Given the description of an element on the screen output the (x, y) to click on. 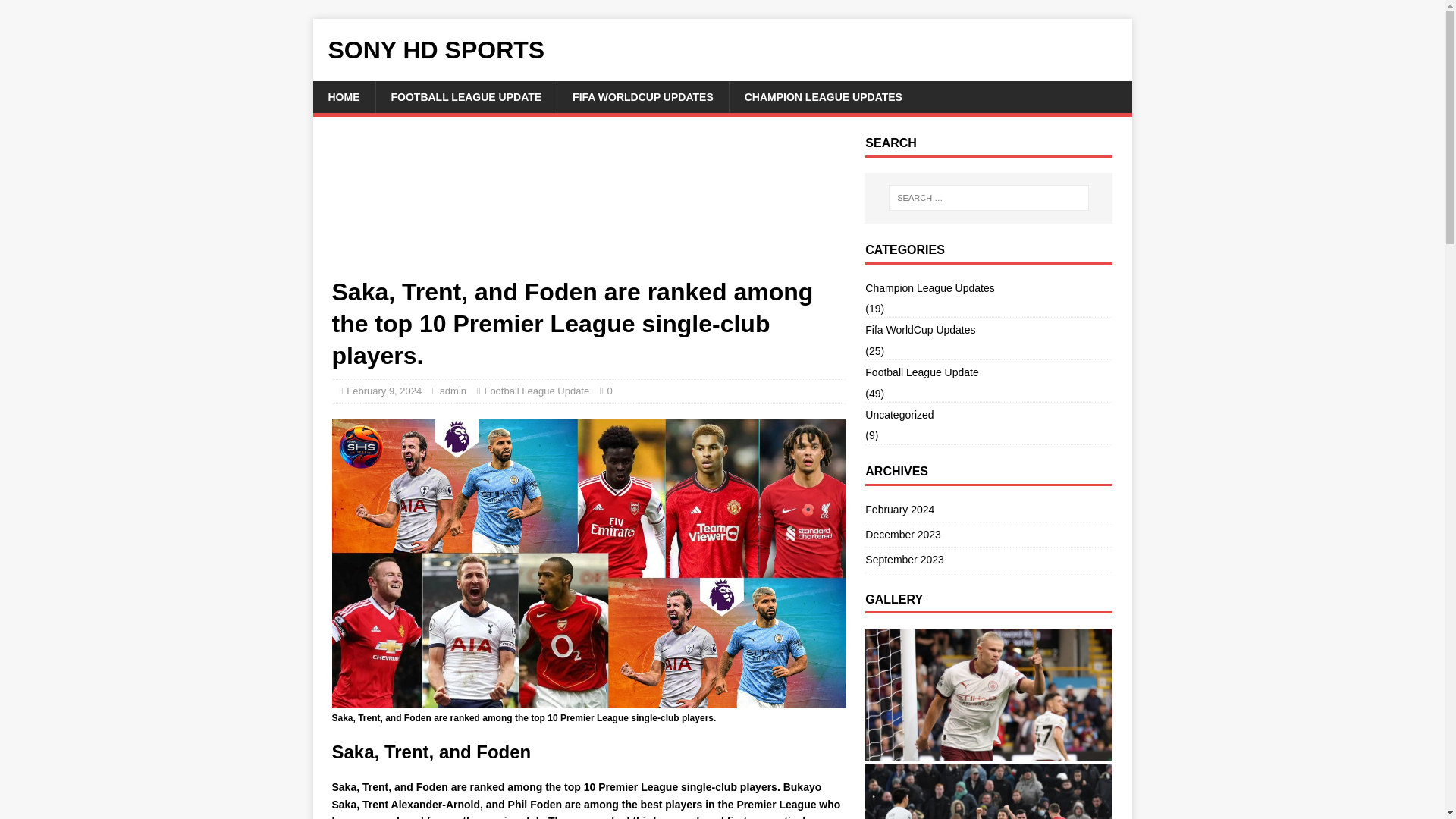
Fifa WorldCup Updates (988, 329)
Sony HD Sports (721, 49)
SONY HD SPORTS (721, 49)
Advertisement (588, 206)
February 9, 2024 (384, 390)
FIFA WORLDCUP UPDATES (642, 97)
September 2023 (988, 559)
FOOTBALL LEAGUE UPDATE (465, 97)
Search (56, 11)
February 2024 (988, 510)
admin (452, 390)
Uncategorized (988, 414)
Football League Update (536, 390)
HOME (343, 97)
